Given the description of an element on the screen output the (x, y) to click on. 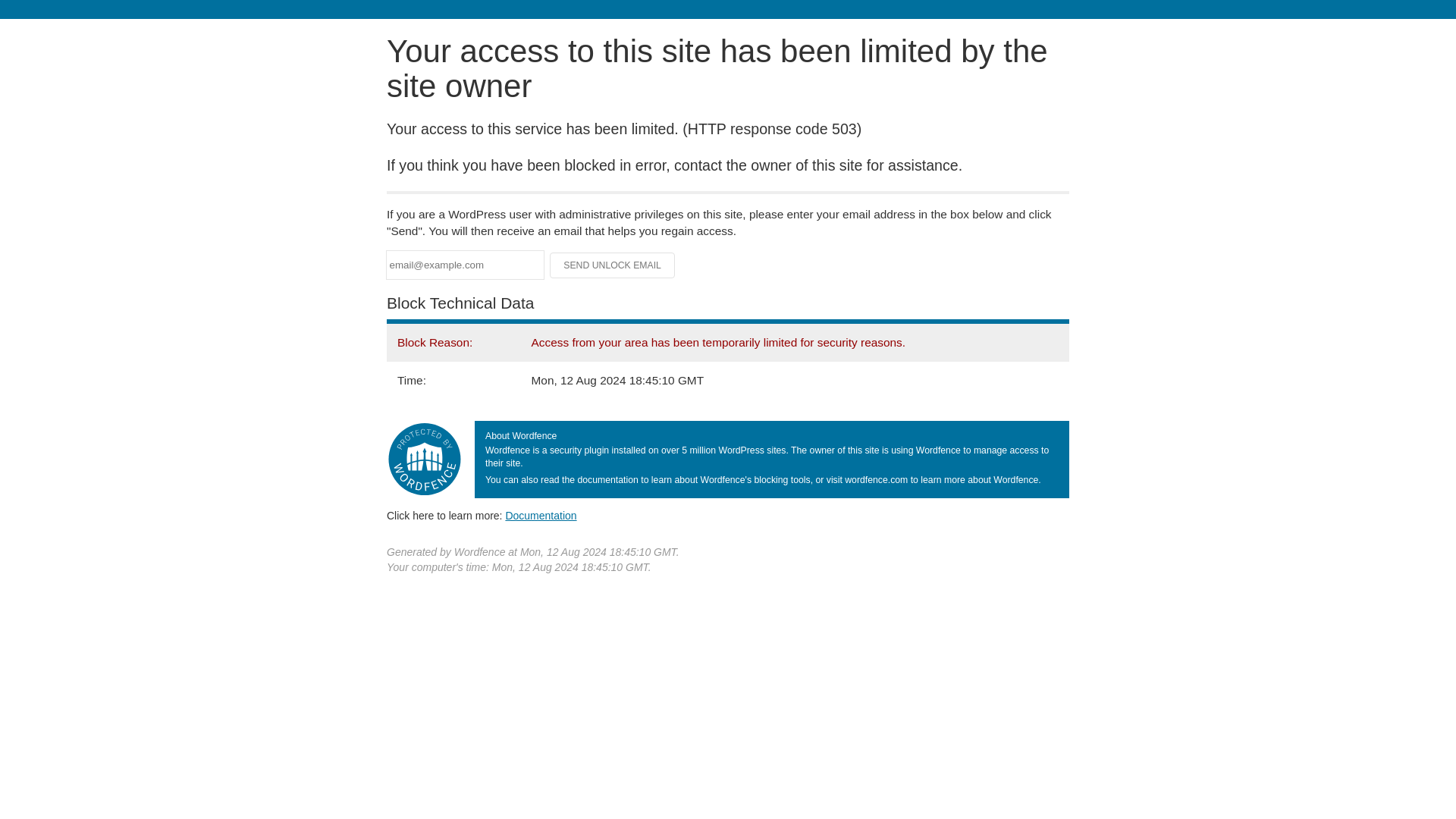
Documentation (540, 515)
Send Unlock Email (612, 265)
Send Unlock Email (612, 265)
